Given the description of an element on the screen output the (x, y) to click on. 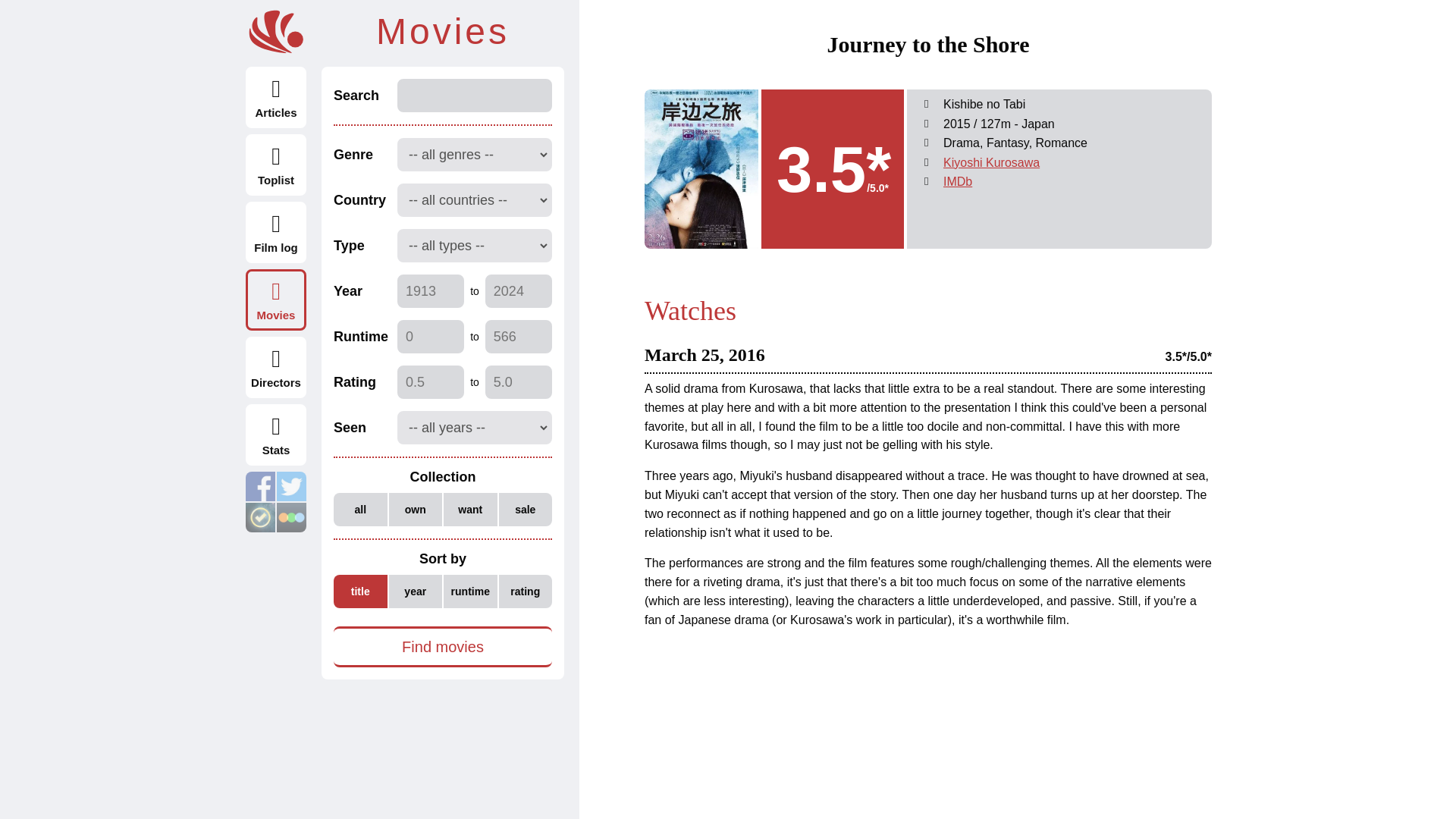
Kiyoshi Kurosawa (991, 162)
Articles (275, 96)
Find movies (442, 646)
Stats (275, 435)
Toplist (275, 164)
onderhond.com (275, 31)
IMDb (957, 181)
Movies (275, 299)
Directors (275, 367)
Film log (275, 231)
